Given the description of an element on the screen output the (x, y) to click on. 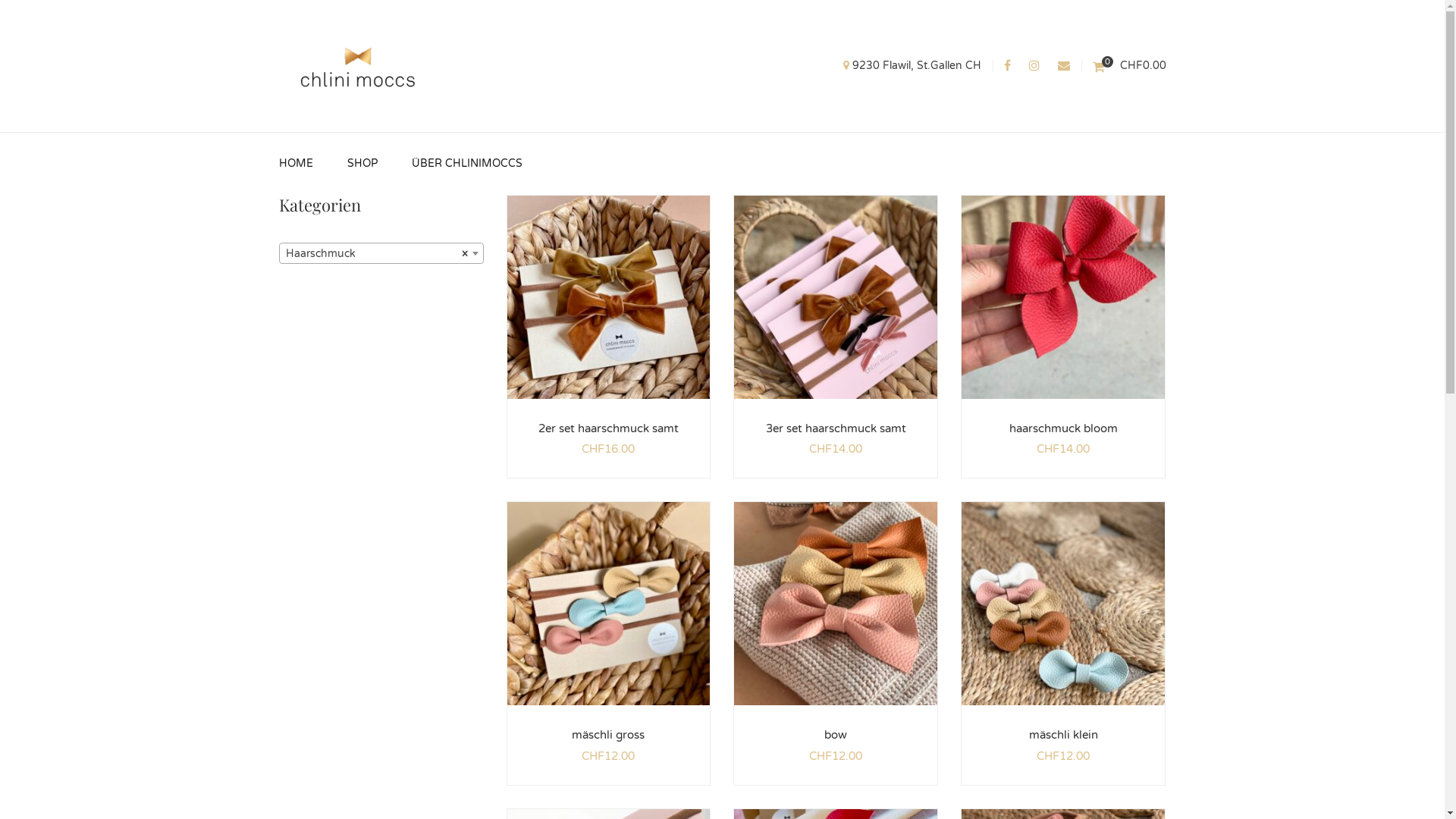
chlini moccs - Handgemachte chlini moccs Element type: hover (357, 65)
bow Element type: text (835, 734)
SHOP Element type: text (362, 163)
3er set haarschmuck samt Element type: text (835, 428)
HOME Element type: text (296, 163)
2er set haarschmuck samt Element type: text (608, 428)
haarschmuck bloom Element type: text (1063, 428)
